Given the description of an element on the screen output the (x, y) to click on. 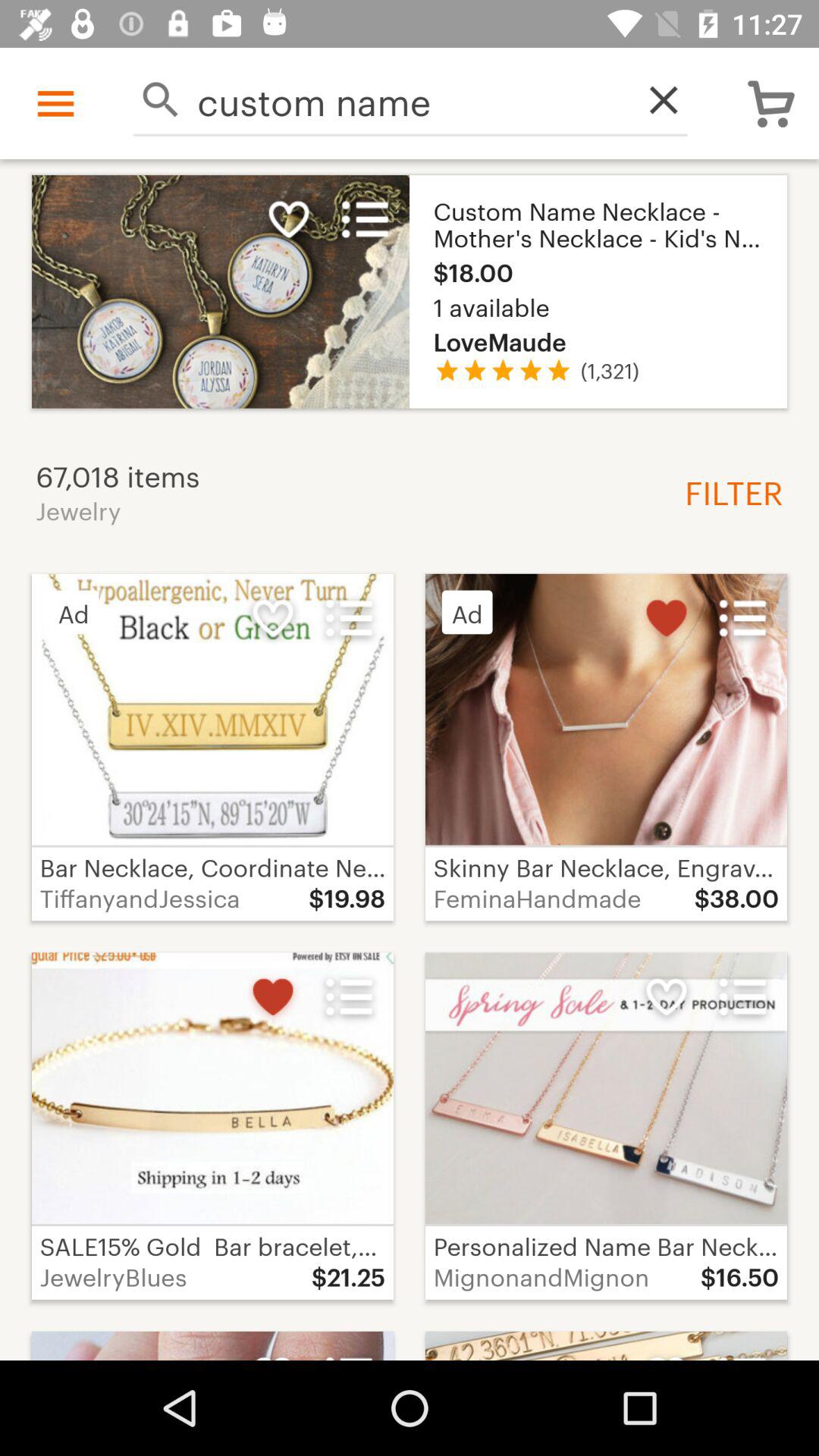
press the icon to the right of 67,018 items icon (727, 491)
